Given the description of an element on the screen output the (x, y) to click on. 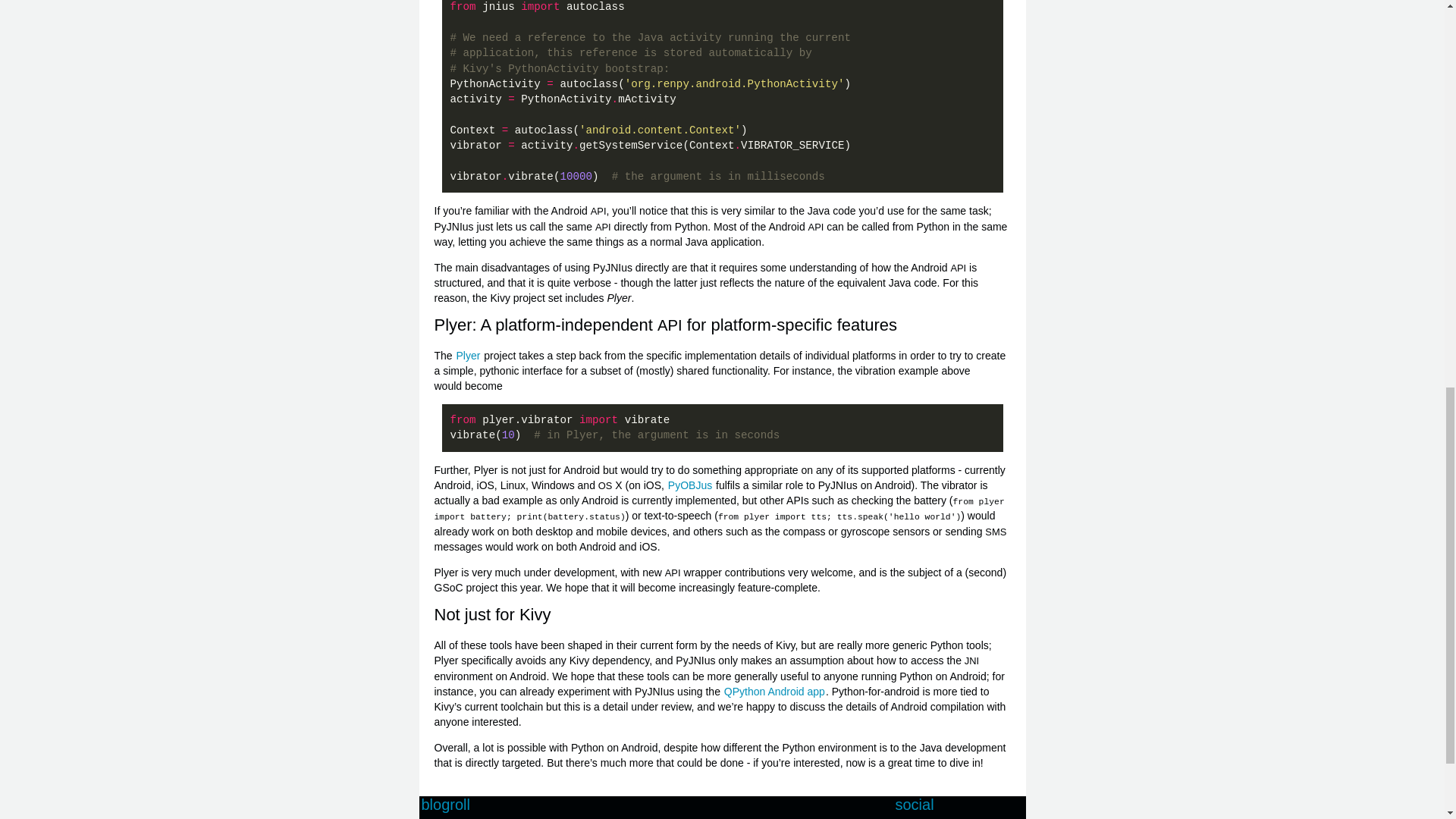
atom feed (959, 817)
kivy.org (489, 817)
PyOBJus (689, 485)
python.org (644, 817)
QPython Android app (774, 691)
Plyer (468, 355)
